Given the description of an element on the screen output the (x, y) to click on. 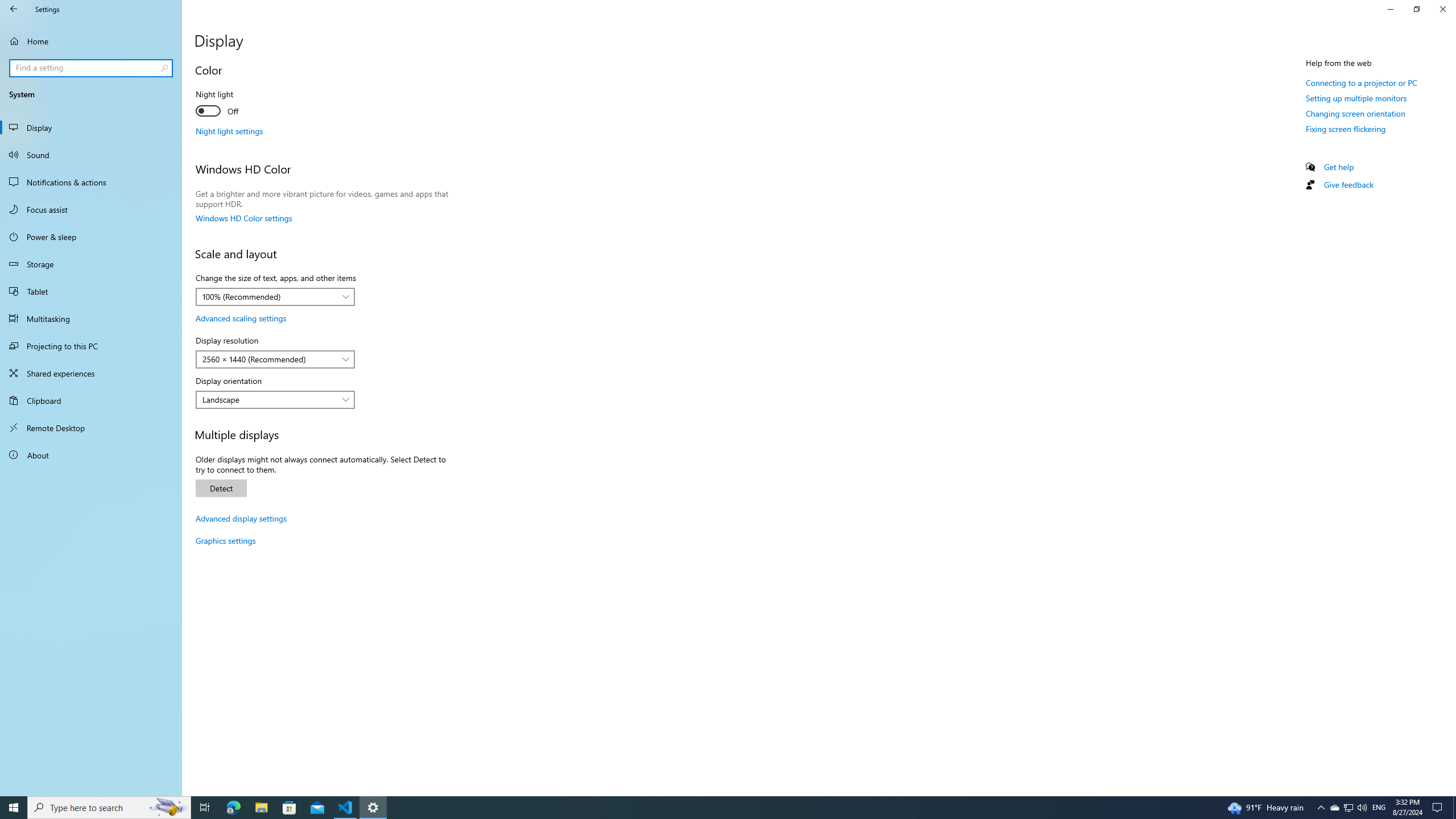
Change the size of text, apps, and other items (275, 296)
Projecting to this PC (91, 345)
Get help (1338, 166)
Tablet (91, 290)
Multitasking (91, 318)
Windows HD Color settings (243, 217)
Notifications & actions (91, 181)
Advanced display settings (240, 518)
Back (13, 9)
Setting up multiple monitors (1356, 97)
Shared experiences (91, 372)
Clipboard (91, 400)
Search box, Find a setting (91, 67)
